Given the description of an element on the screen output the (x, y) to click on. 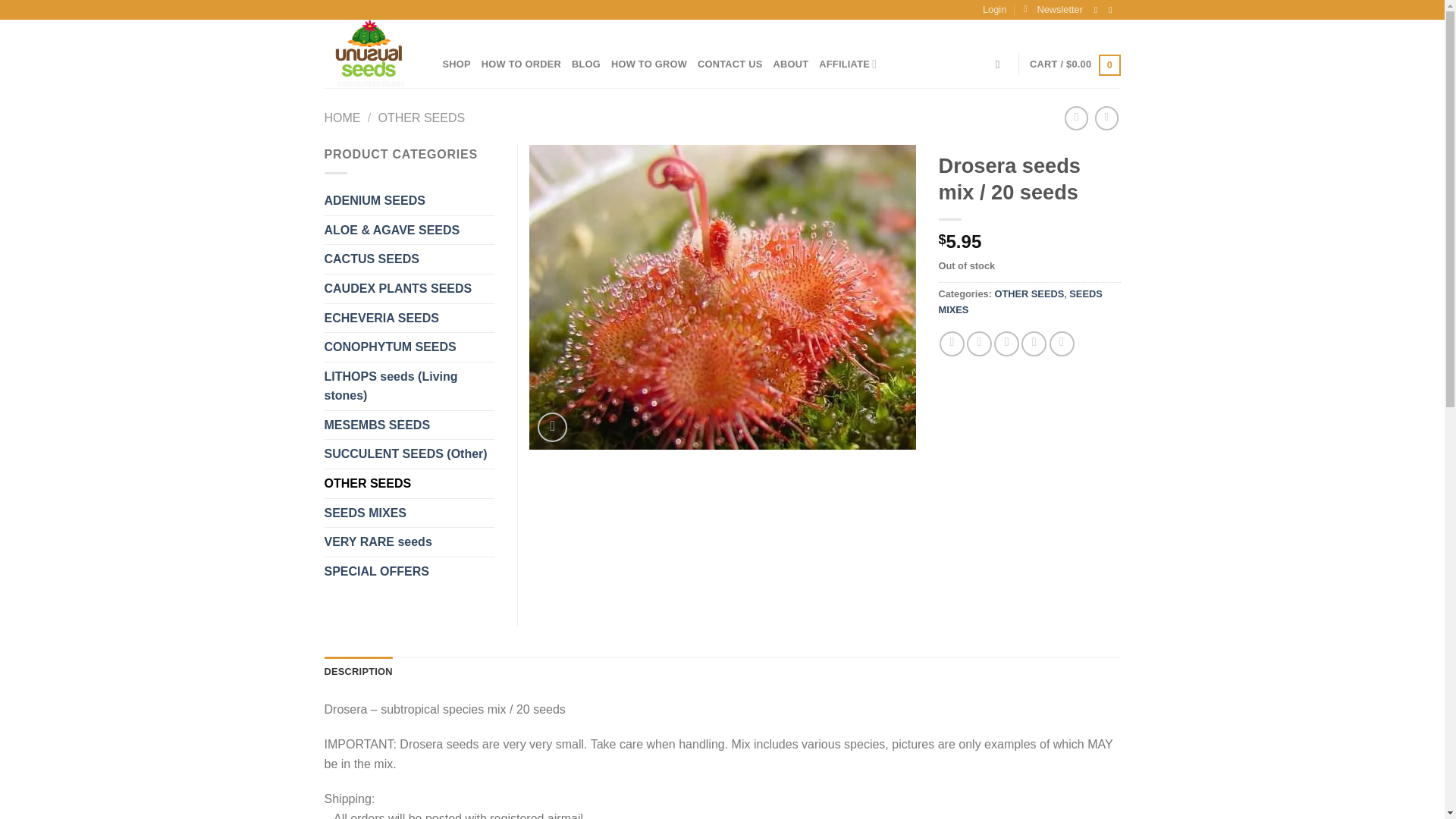
Newsletter (1053, 9)
Zoom (552, 427)
UnusualSeeds (372, 53)
Sign up for Newsletter (1053, 9)
OTHER SEEDS (420, 117)
HOW TO ORDER (520, 63)
HOME (342, 117)
Cart (1074, 63)
SEEDS MIXES (1020, 301)
Share on Twitter (978, 343)
